Given the description of an element on the screen output the (x, y) to click on. 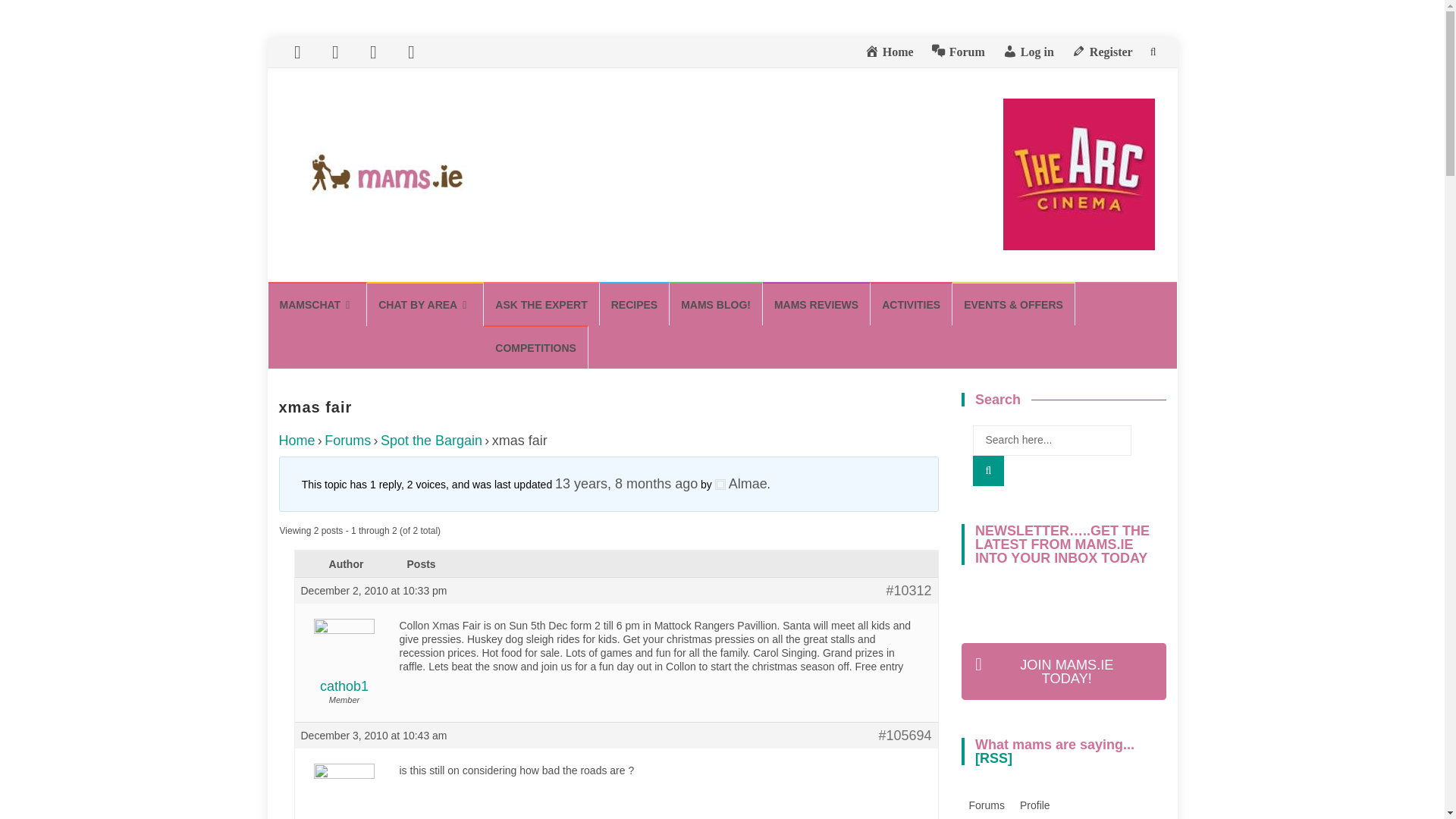
Search (988, 470)
View Almae's profile (343, 800)
Re: xmas fair (625, 483)
Site Wide Activity RSS Feed (993, 758)
CHAT BY AREA (424, 303)
Forum (958, 51)
Home (889, 51)
Log in (1028, 51)
View cathob1's profile (343, 664)
MAMSCHAT (317, 303)
Register (1101, 51)
